Given the description of an element on the screen output the (x, y) to click on. 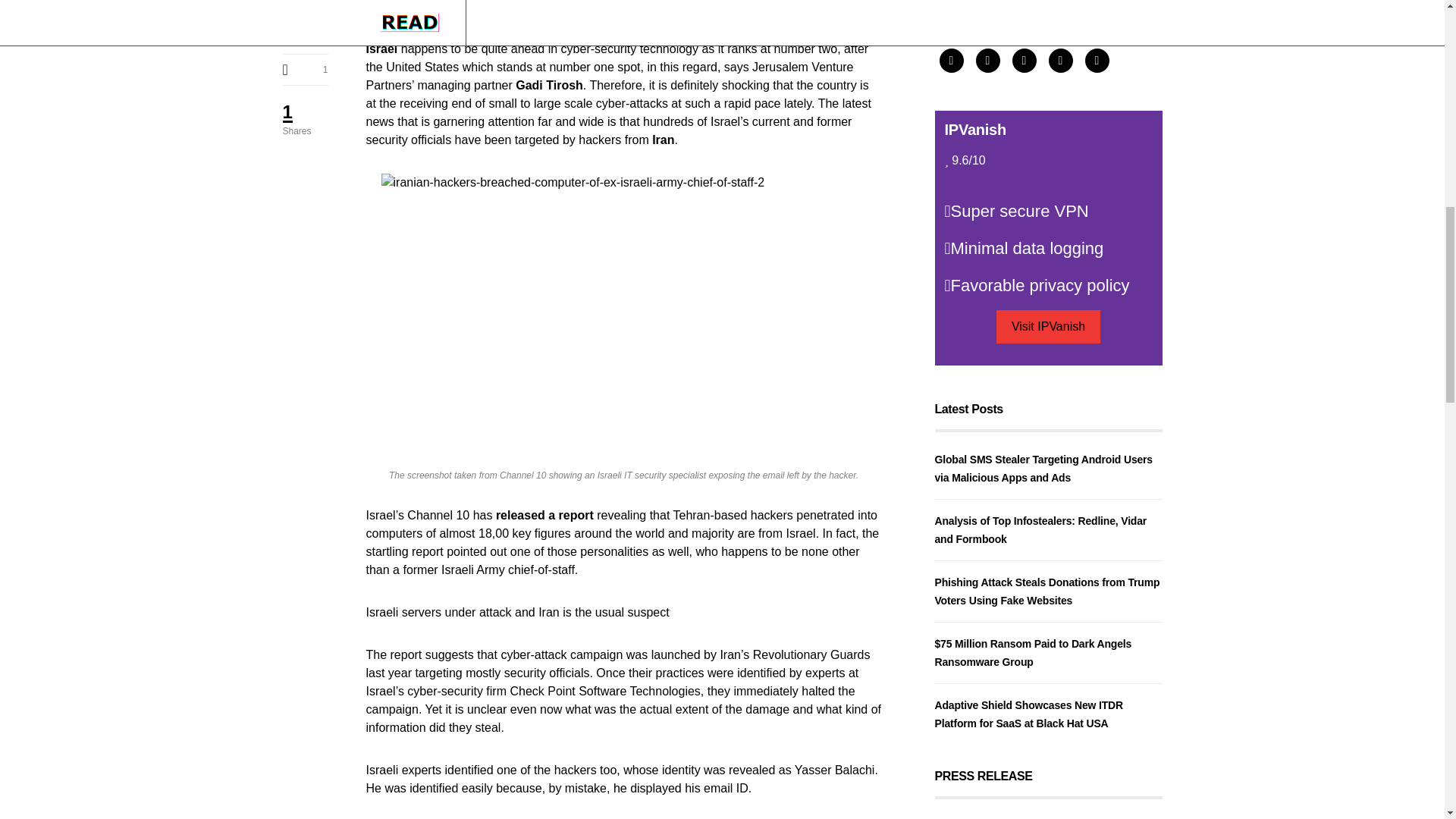
View all posts by Cyber Newswire (976, 399)
View all posts by Uzair Amir (963, 632)
View all posts by Uzair Amir (963, 276)
View all posts by Cyber Newswire (976, 523)
View all posts by Cyber Newswire (976, 152)
